Given the description of an element on the screen output the (x, y) to click on. 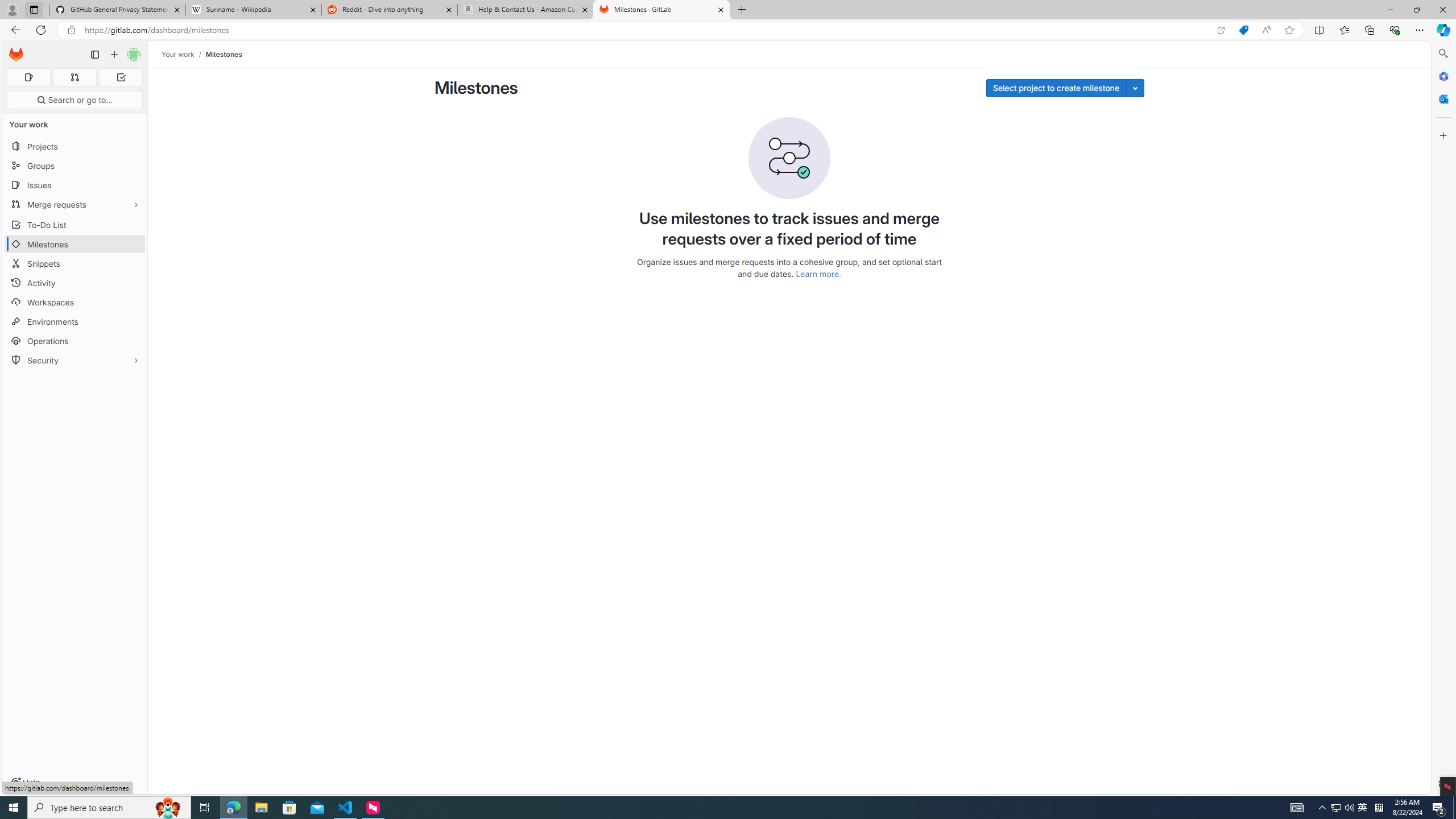
Security (74, 359)
Learn more. (817, 273)
Operations (74, 340)
Groups (74, 165)
To-Do List (74, 224)
Create new... (113, 54)
Merge requests (74, 203)
Help & Contact Us - Amazon Customer Service - Sleeping (525, 9)
Primary navigation sidebar (94, 54)
